Given the description of an element on the screen output the (x, y) to click on. 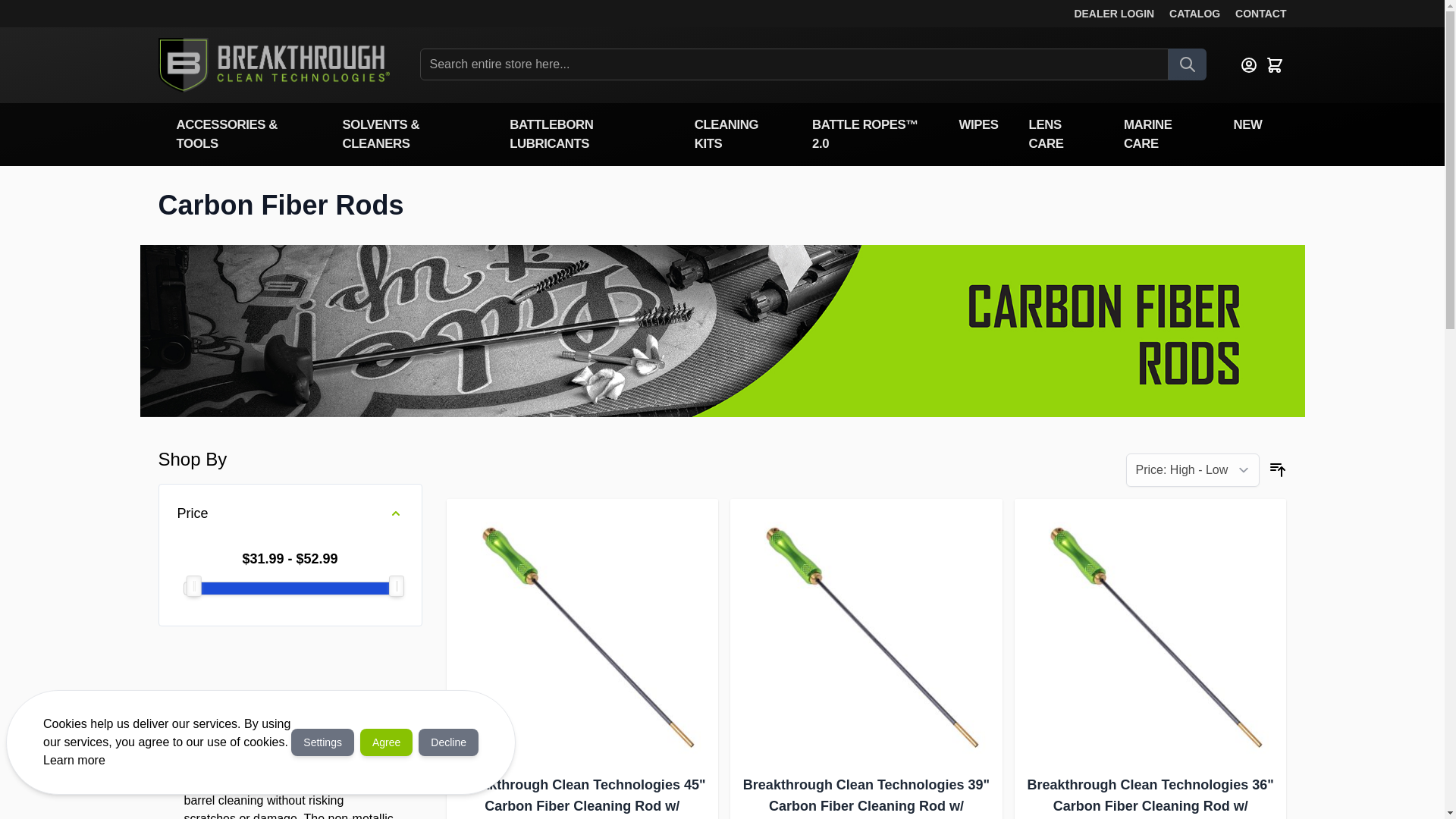
Agree (385, 741)
Learn more (73, 759)
Settings (322, 741)
CATALOG (1188, 13)
Decline (449, 741)
CONTACT (1254, 13)
DEALER LOGIN (1114, 13)
